Given the description of an element on the screen output the (x, y) to click on. 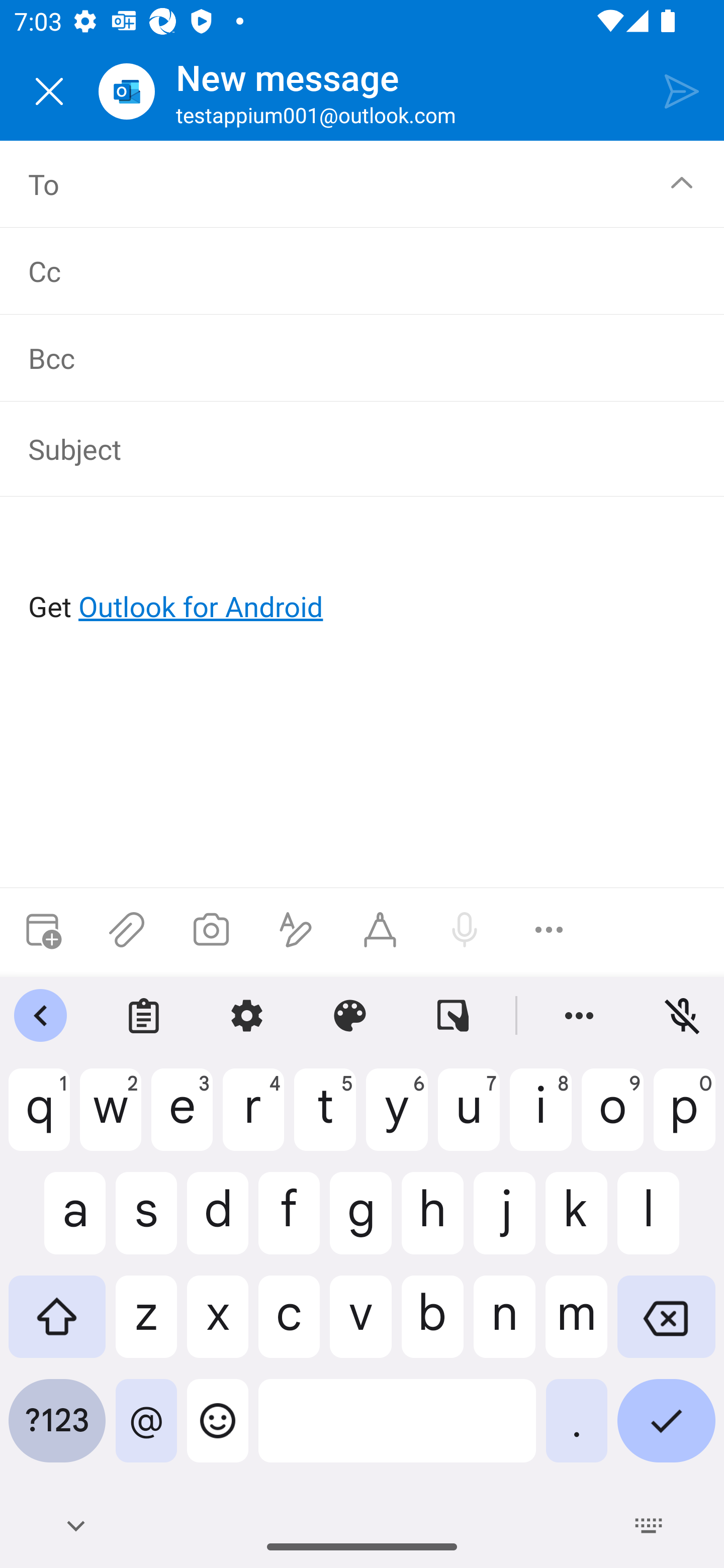
Close (49, 91)
Send (681, 90)
Subject (347, 448)


Get Outlook for Android (363, 573)
Attach meeting (42, 929)
Attach files (126, 929)
Take a photo (210, 929)
Show formatting options (295, 929)
Start Ink compose (380, 929)
More options (548, 929)
